Given the description of an element on the screen output the (x, y) to click on. 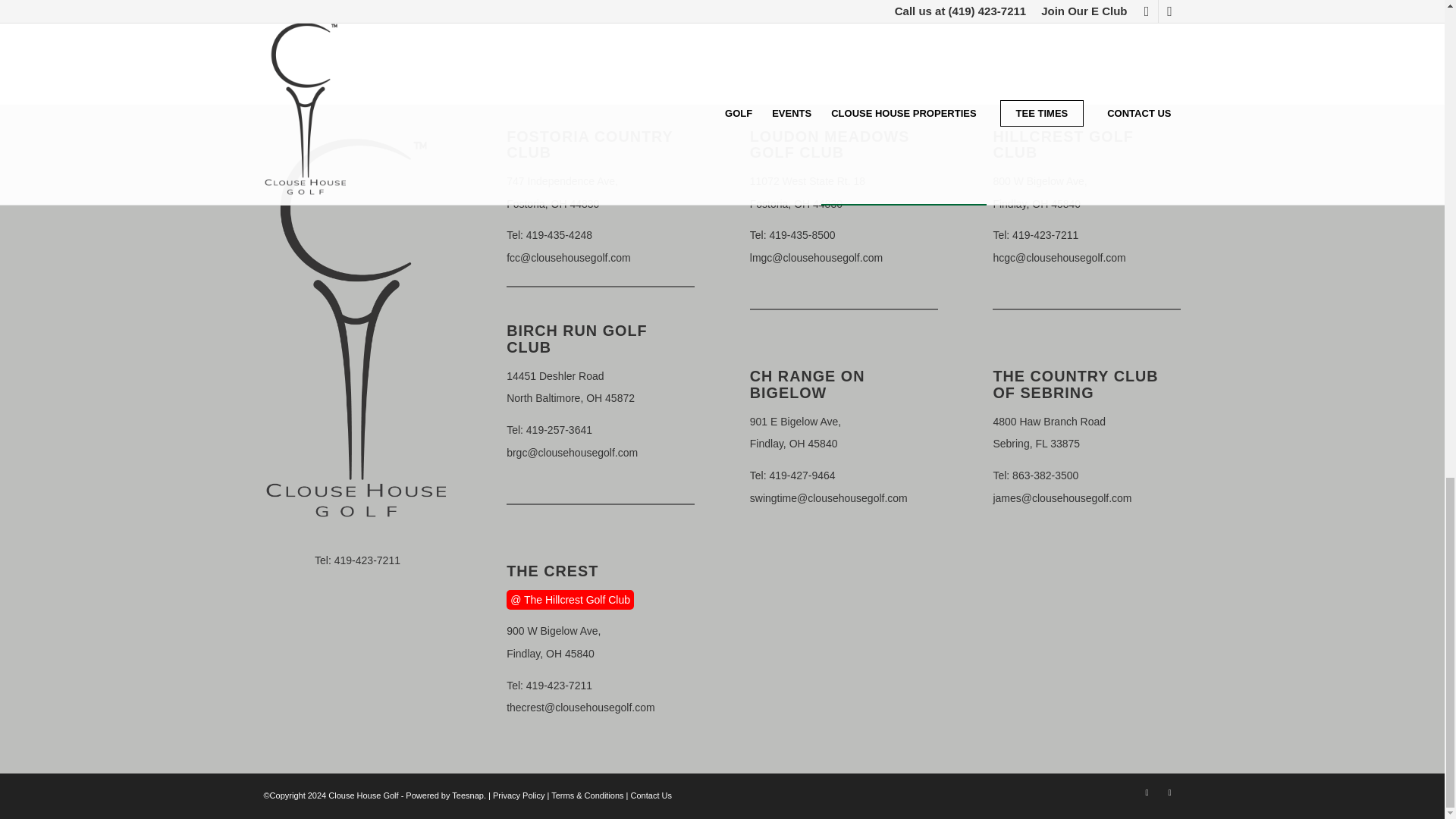
Mail (1146, 792)
419-423-7211 (561, 192)
Instagram (367, 560)
